Given the description of an element on the screen output the (x, y) to click on. 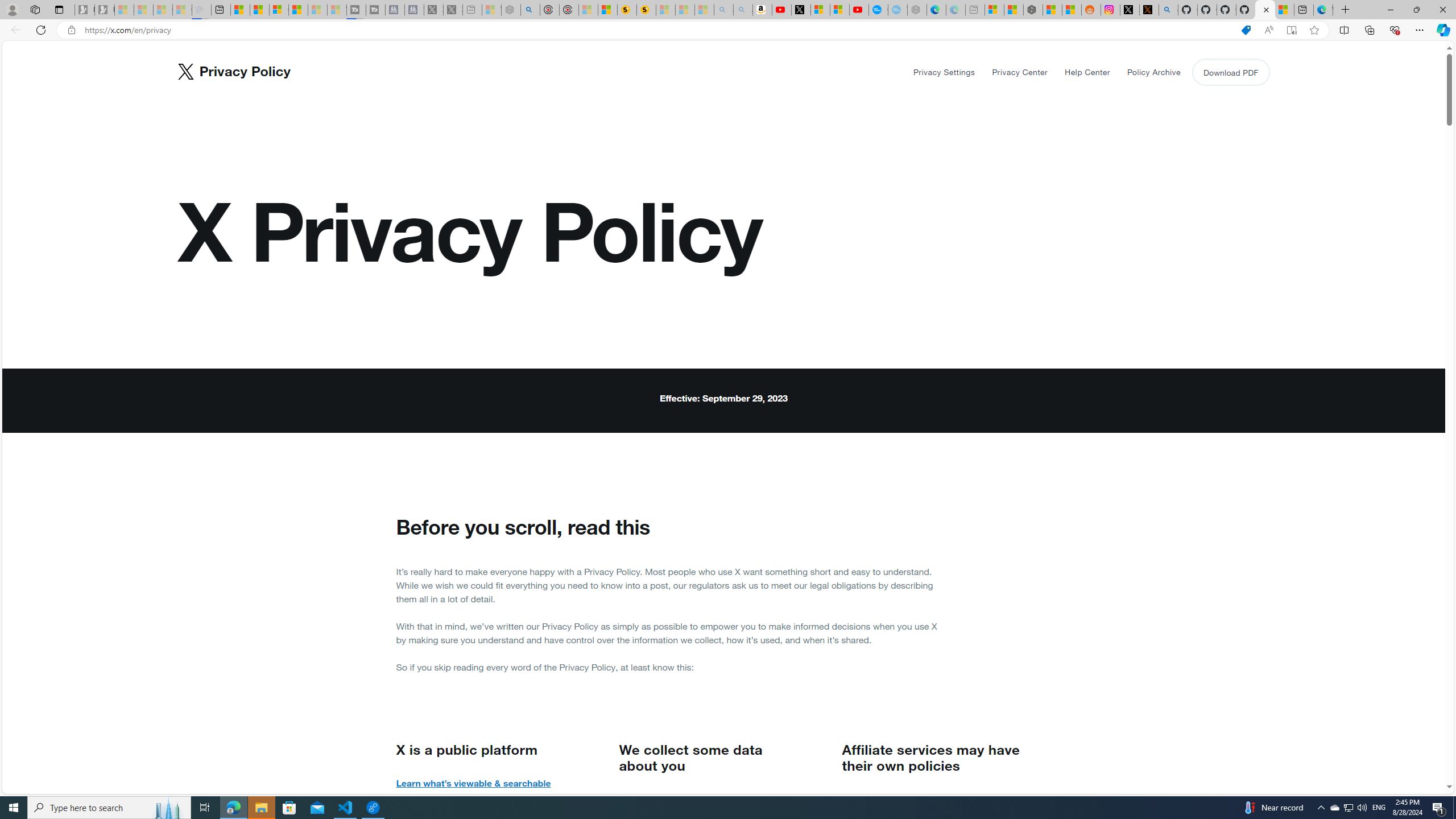
The most popular Google 'how to' searches - Sleeping (897, 9)
Shanghai, China Weather trends | Microsoft Weather (1071, 9)
Privacy Settings (944, 72)
Nordace - Summer Adventures 2024 - Sleeping (510, 9)
Privacy Center (1019, 71)
Microsoft account | Microsoft Account Privacy Settings (994, 9)
